Given the description of an element on the screen output the (x, y) to click on. 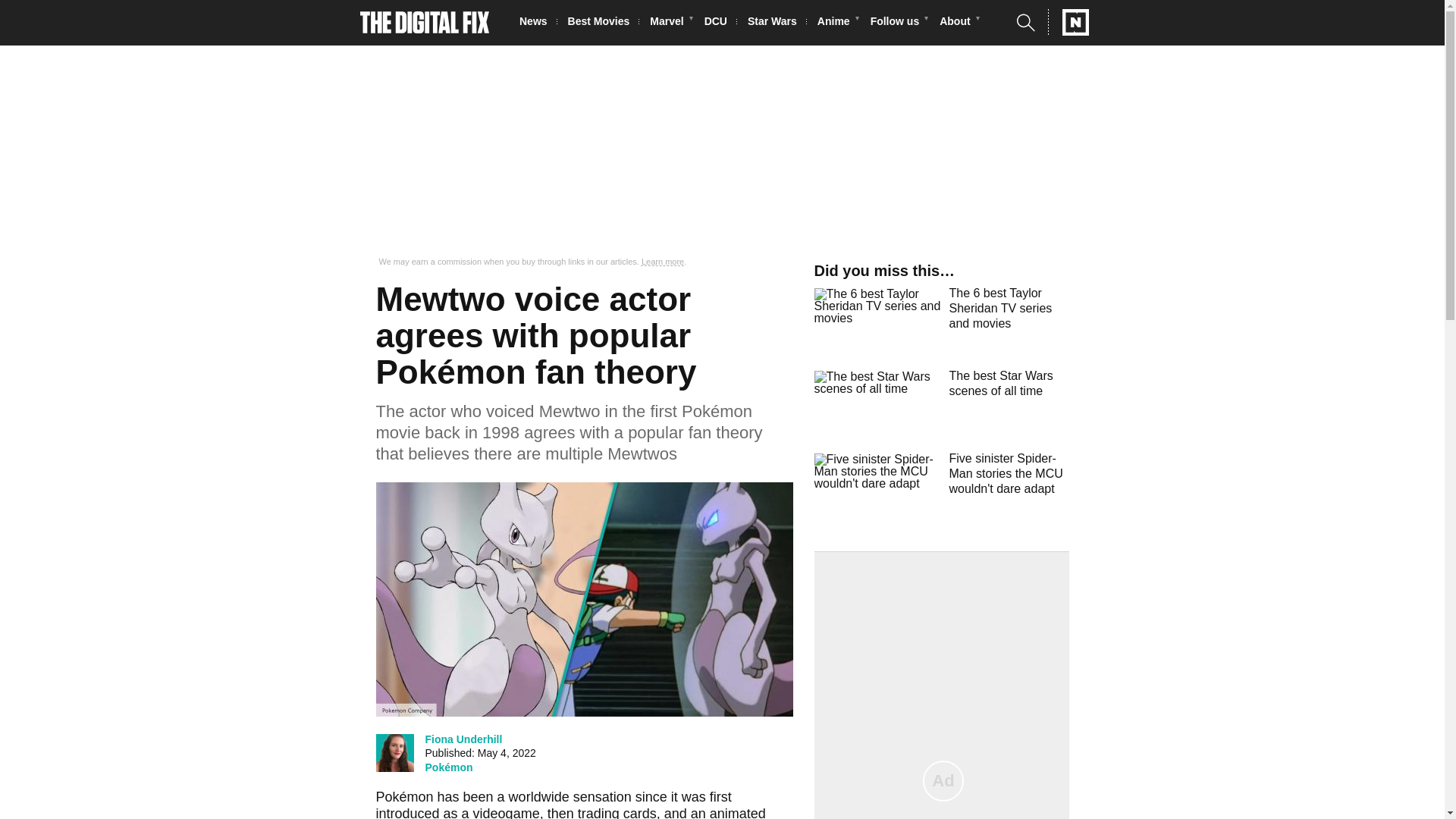
Anime News (837, 22)
Follow us (899, 22)
Marvel Cinematic Universe News (671, 22)
Anime (837, 22)
The Digital Fix (424, 22)
Fiona Underhill (463, 739)
Learn more (663, 261)
Marvel (671, 22)
Star Wars News (777, 22)
Star Wars (777, 22)
Best Movies (603, 22)
Network N Media (1068, 22)
